Given the description of an element on the screen output the (x, y) to click on. 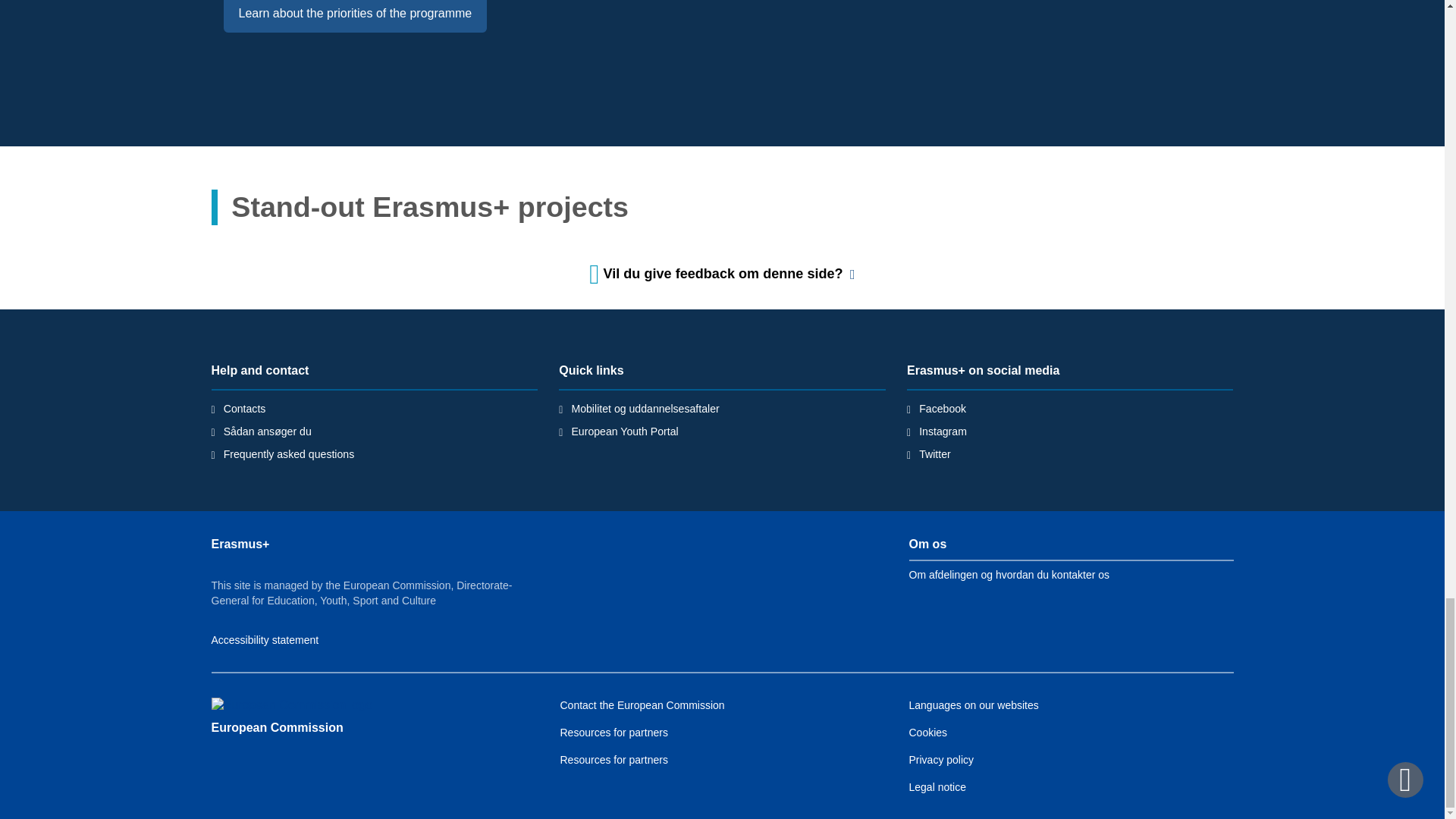
Mobilitet og uddannelsesaftaler (644, 408)
European Commission (276, 727)
Twitter (934, 453)
Facebook (942, 408)
Frequently asked questions (289, 453)
Languages on our websites (973, 705)
Learn about the priorities of the programme (354, 15)
Resources for partners (612, 732)
Resources for partners (612, 759)
Learn about the priorities of the programme (354, 15)
